Given the description of an element on the screen output the (x, y) to click on. 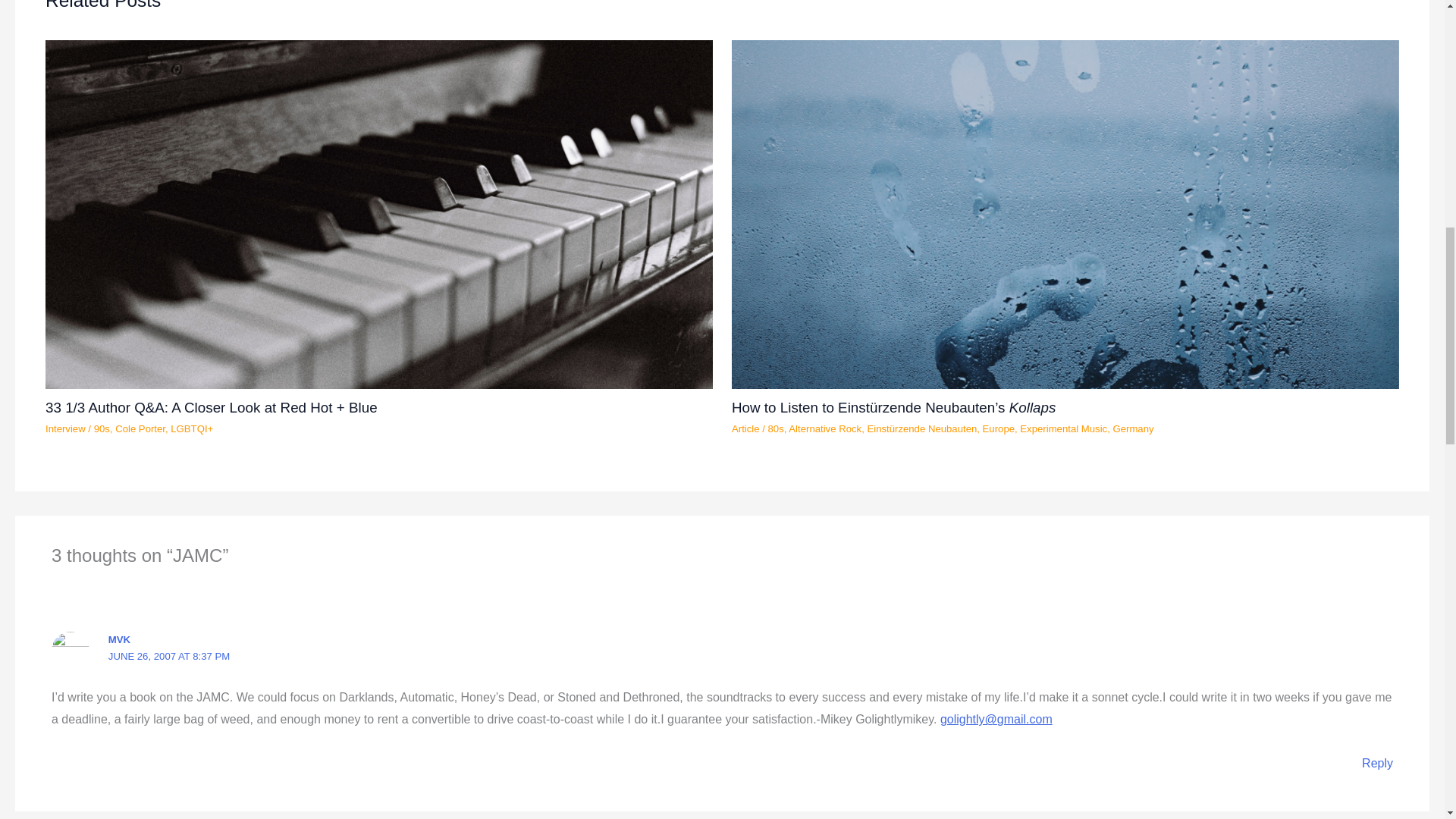
80s (776, 428)
Cole Porter (140, 428)
Interview (65, 428)
90s (102, 428)
Article (746, 428)
